Given the description of an element on the screen output the (x, y) to click on. 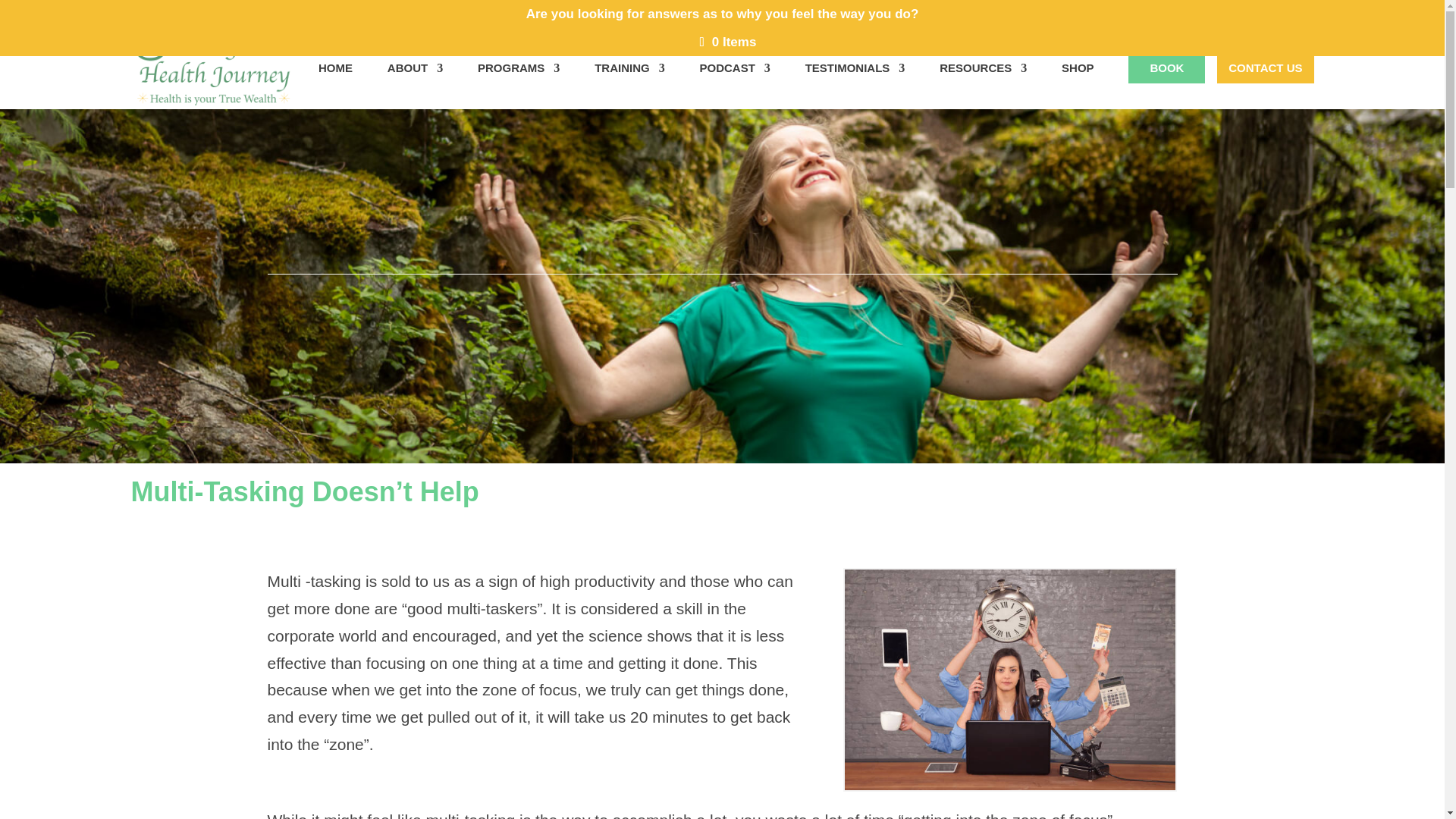
PODCAST (734, 85)
PROGRAMS (518, 85)
TESTIMONIALS (855, 85)
Multi-task (1009, 679)
TRAINING (629, 85)
0 Items (728, 41)
ABOUT (414, 85)
RESOURCES (982, 85)
